Given the description of an element on the screen output the (x, y) to click on. 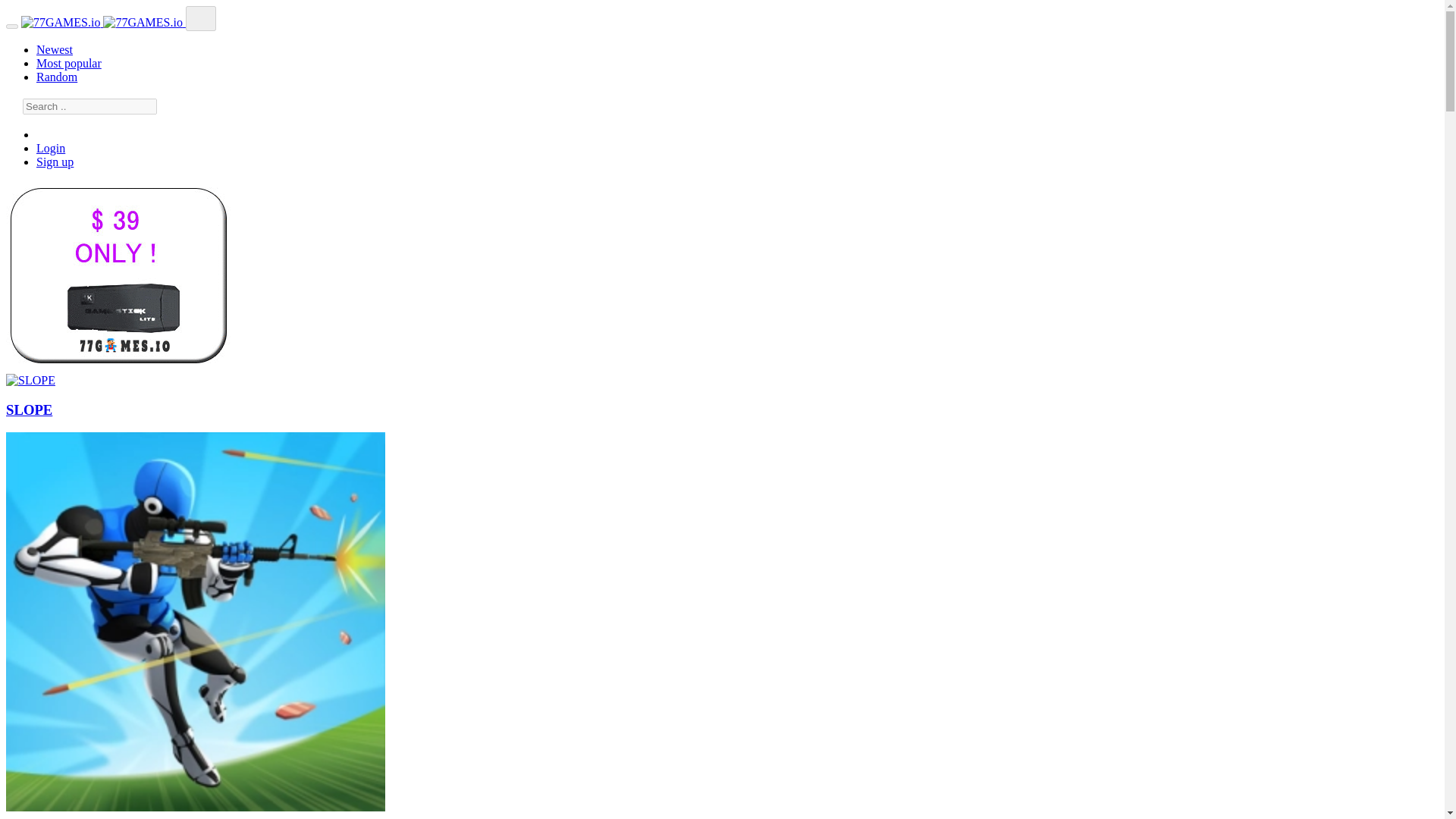
Leaderboard (42, 133)
Random (56, 76)
Most popular (68, 62)
Newest (54, 49)
Login (50, 147)
Sign up (55, 161)
